Given the description of an element on the screen output the (x, y) to click on. 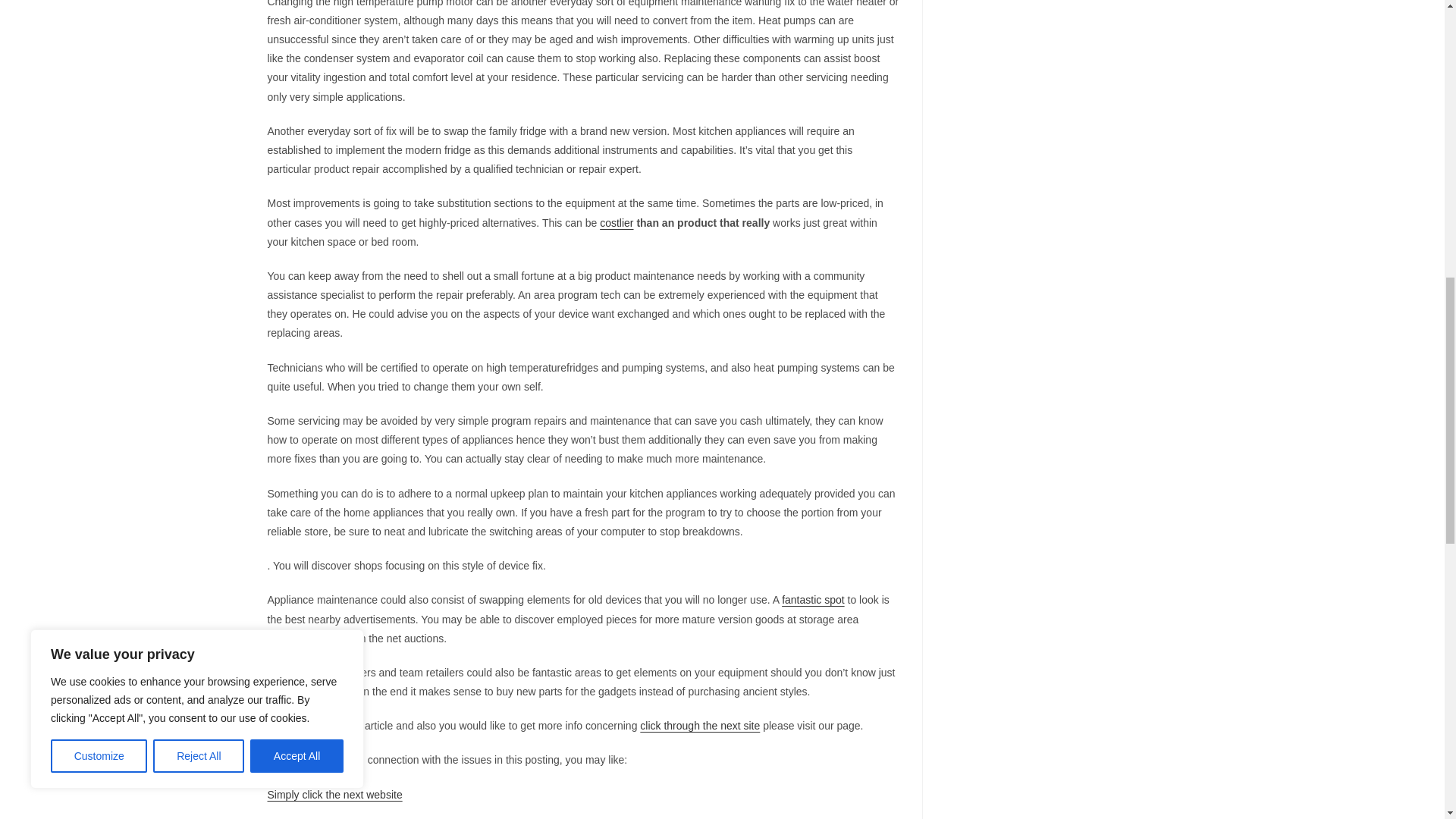
costlier (616, 223)
fantastic spot (812, 599)
click through the next site (700, 725)
Simply click the next website (333, 794)
